Given the description of an element on the screen output the (x, y) to click on. 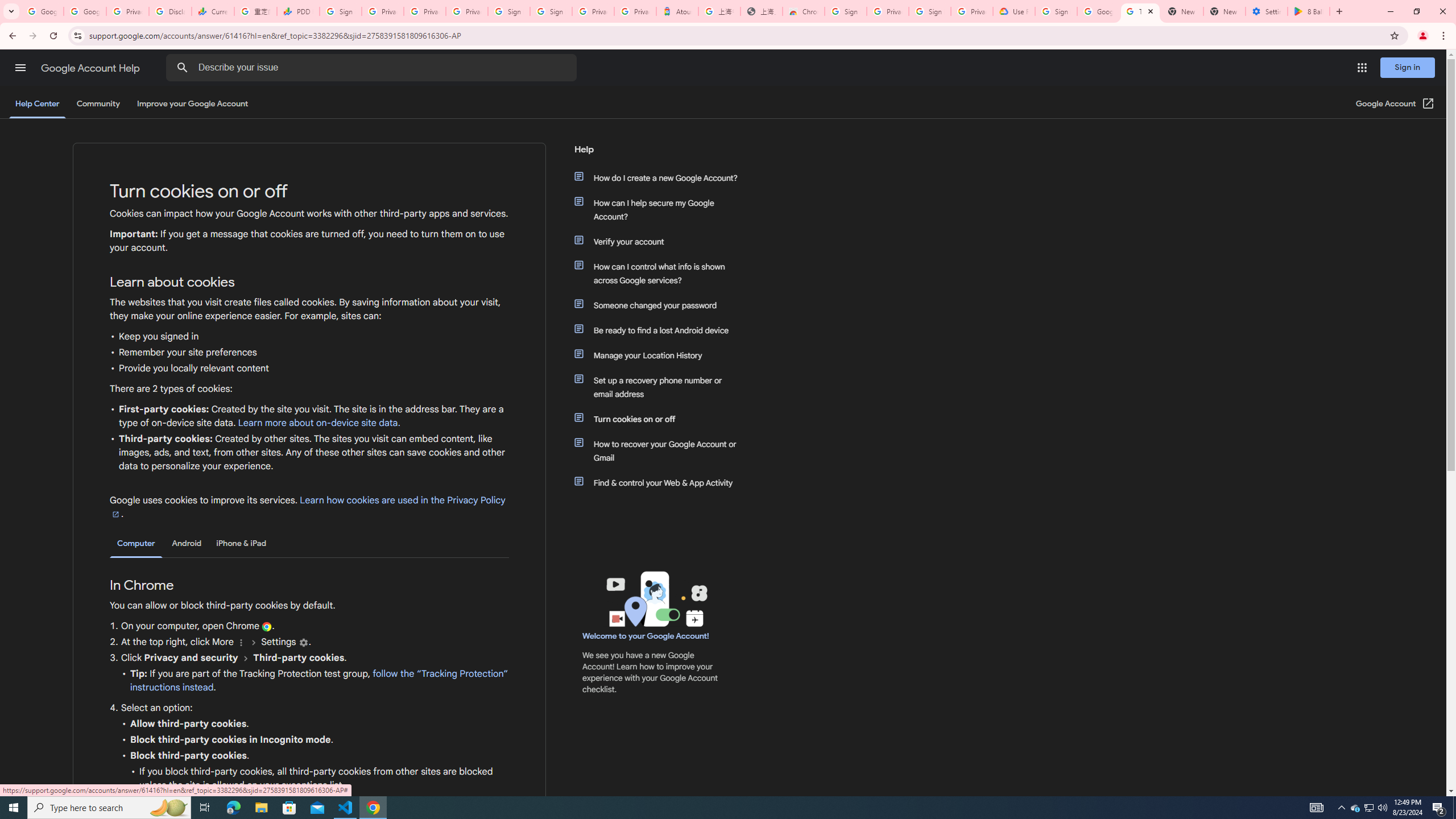
Sign in - Google Accounts (930, 11)
Help Center (36, 103)
Google Account (Open in a new window) (1395, 103)
Settings - System (1266, 11)
Describe your issue (373, 67)
Turn cookies on or off - Computer - Google Account Help (1139, 11)
and then (245, 657)
